Given the description of an element on the screen output the (x, y) to click on. 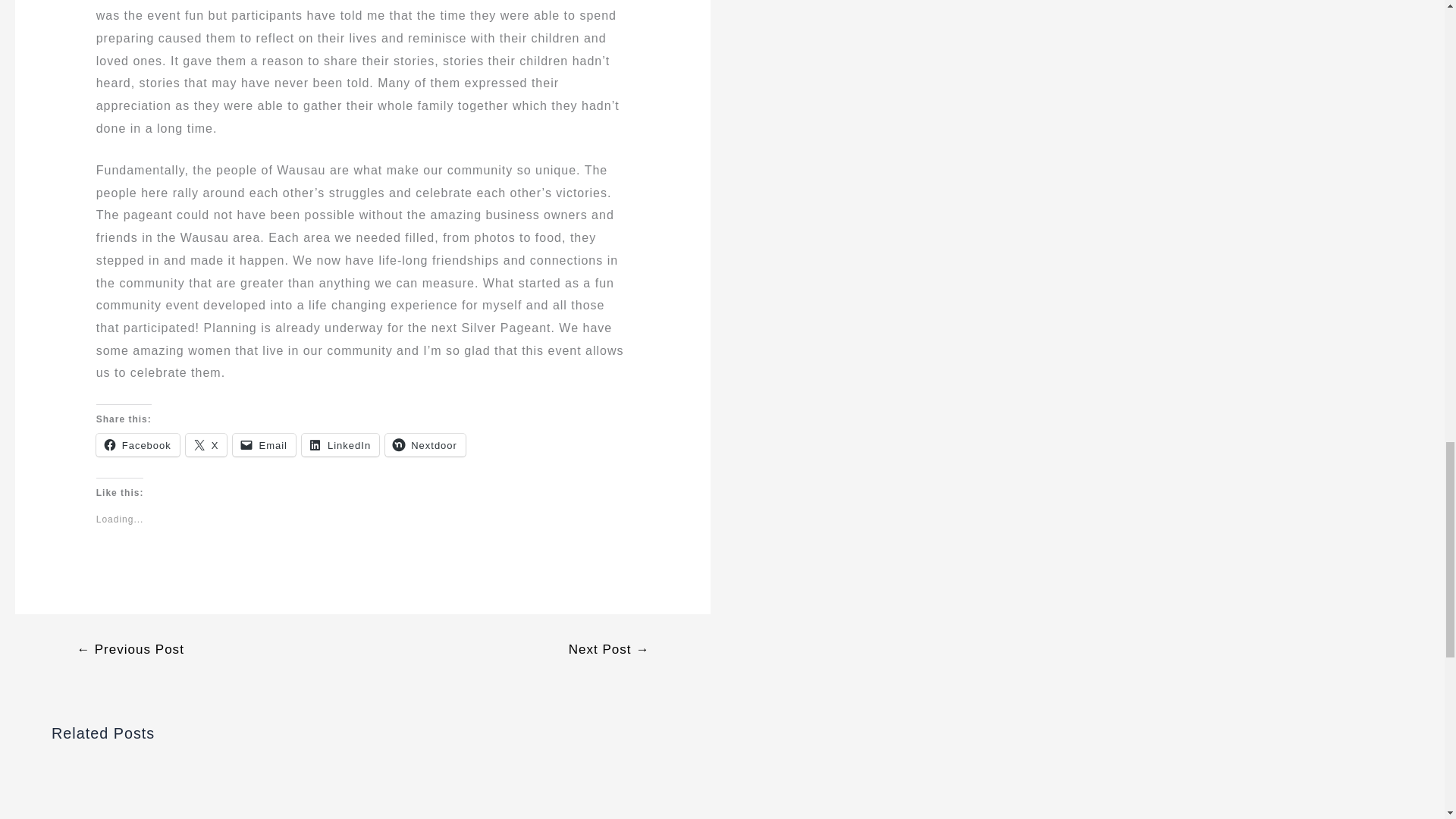
Click to share on X (206, 445)
Click to email a link to a friend (263, 445)
Click to share on LinkedIn (339, 445)
Click to share on Facebook (137, 445)
Click to share on Nextdoor (425, 445)
